Given the description of an element on the screen output the (x, y) to click on. 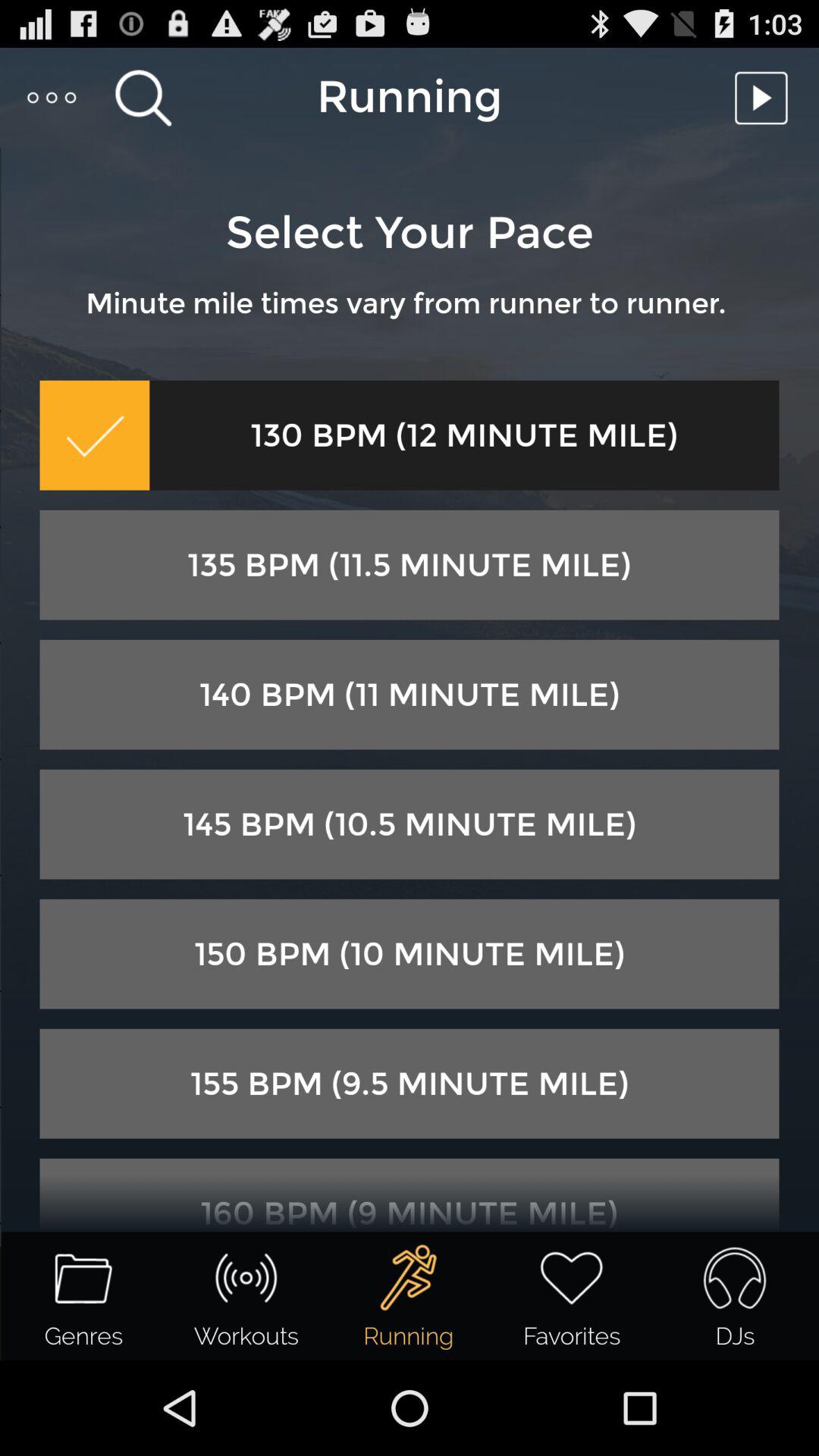
search the page (142, 97)
